Given the description of an element on the screen output the (x, y) to click on. 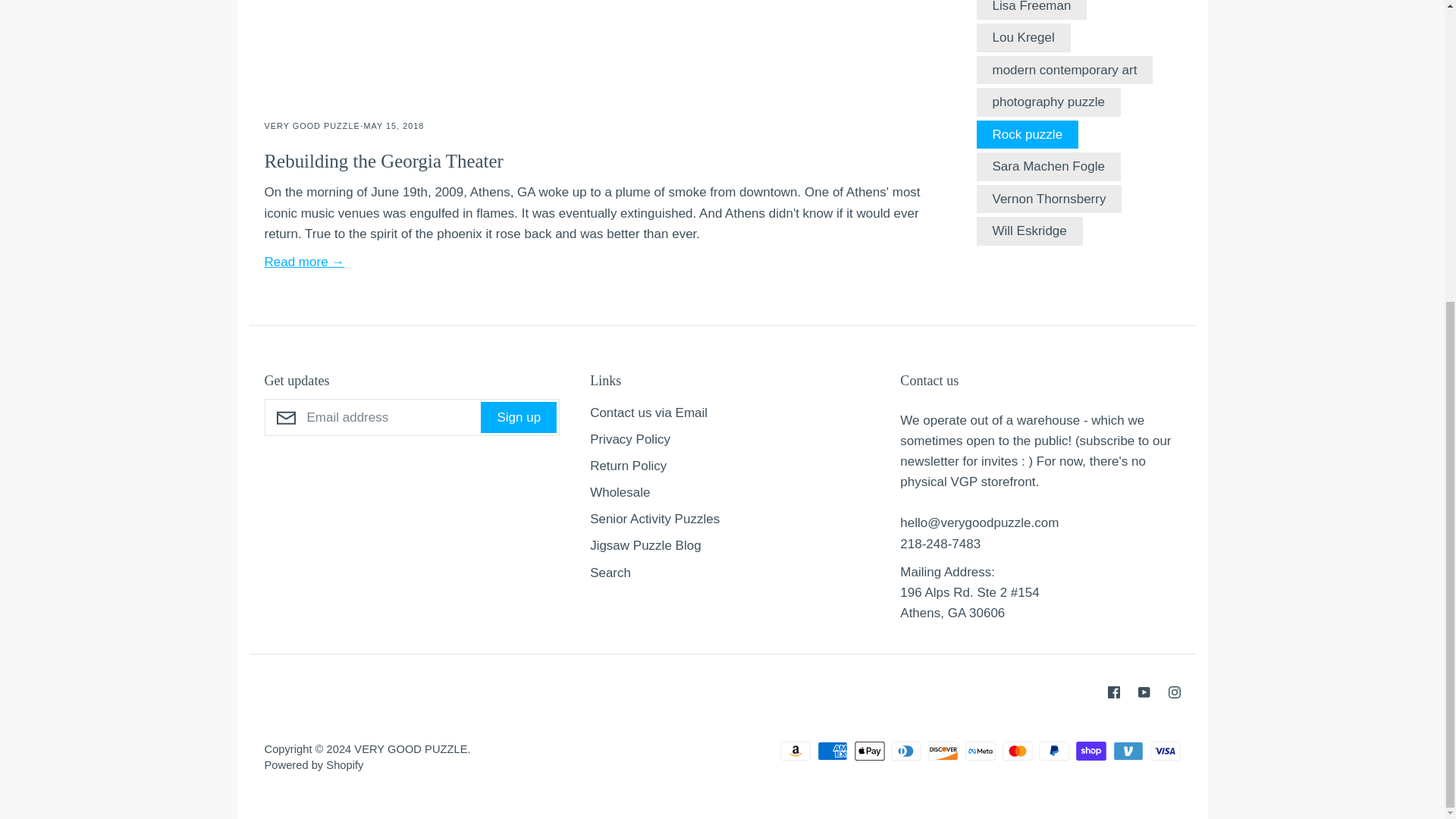
Venmo (1127, 751)
Shop Pay (1090, 751)
Apple Pay (869, 751)
Amazon (795, 751)
Meta Pay (980, 751)
American Express (831, 751)
Discover (943, 751)
PayPal (1053, 751)
Visa (1164, 751)
Mastercard (1017, 751)
